Given the description of an element on the screen output the (x, y) to click on. 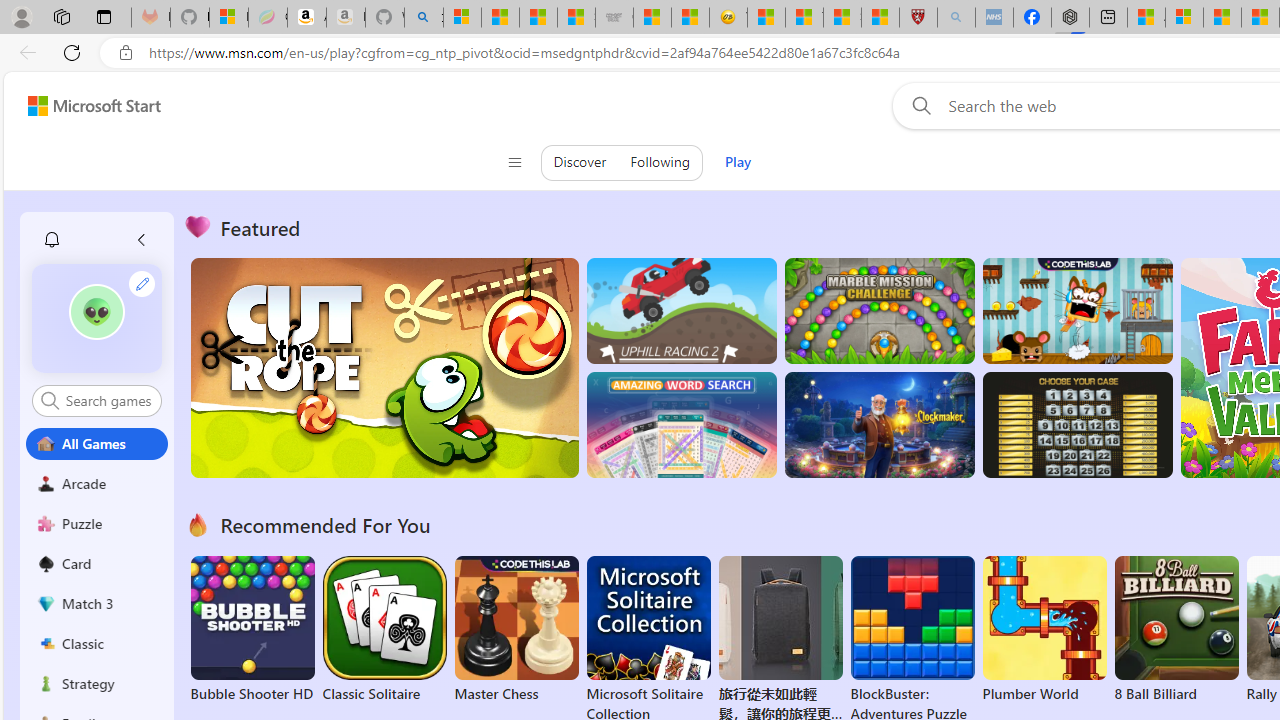
Cut the Rope (383, 367)
Marble Mission : Challenge (879, 310)
""'s avatar (96, 312)
